Given the description of an element on the screen output the (x, y) to click on. 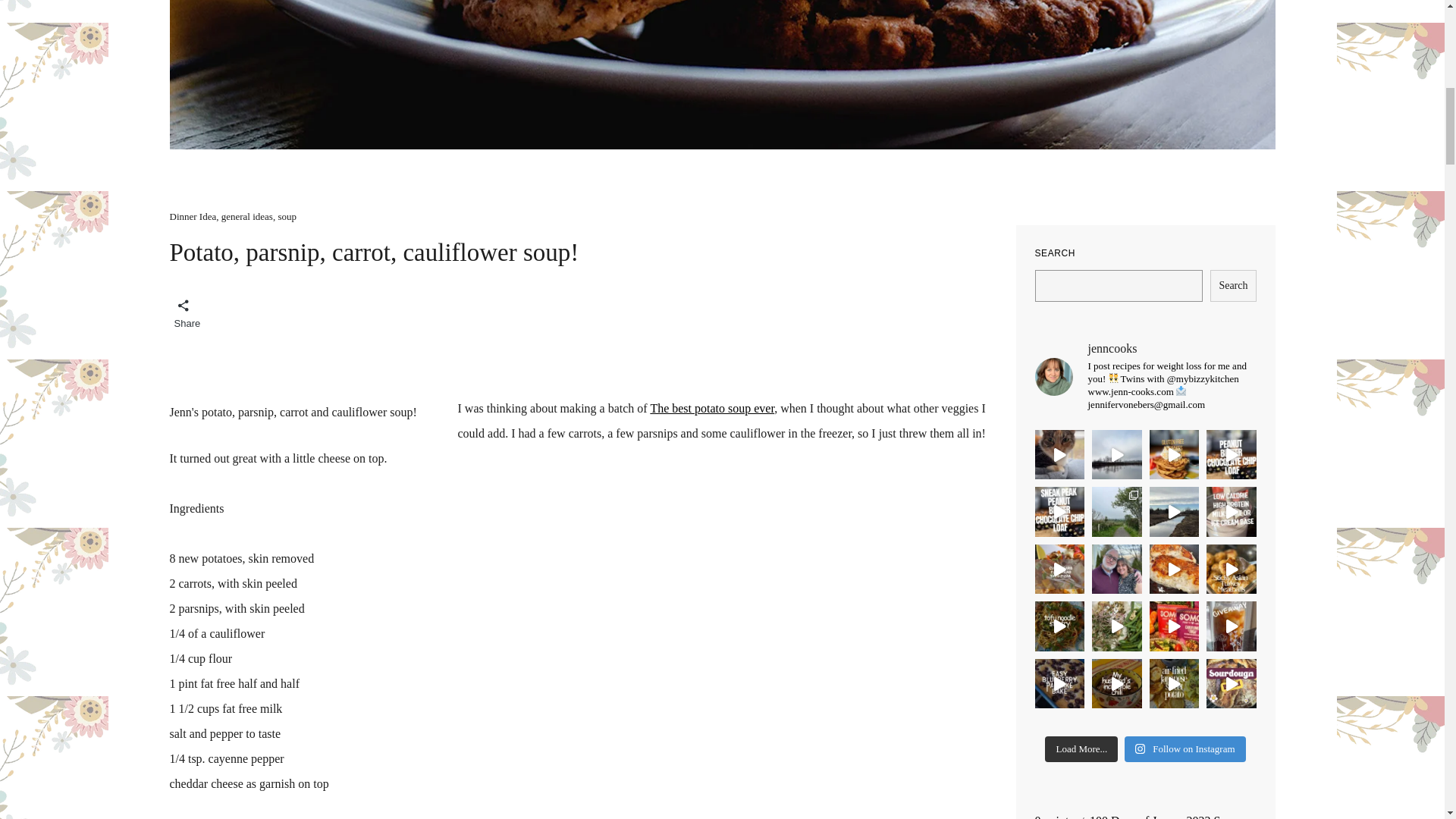
Dinner Idea (193, 215)
soup (287, 215)
Share (183, 310)
The best potato soup ever (711, 408)
general ideas (247, 215)
